Given the description of an element on the screen output the (x, y) to click on. 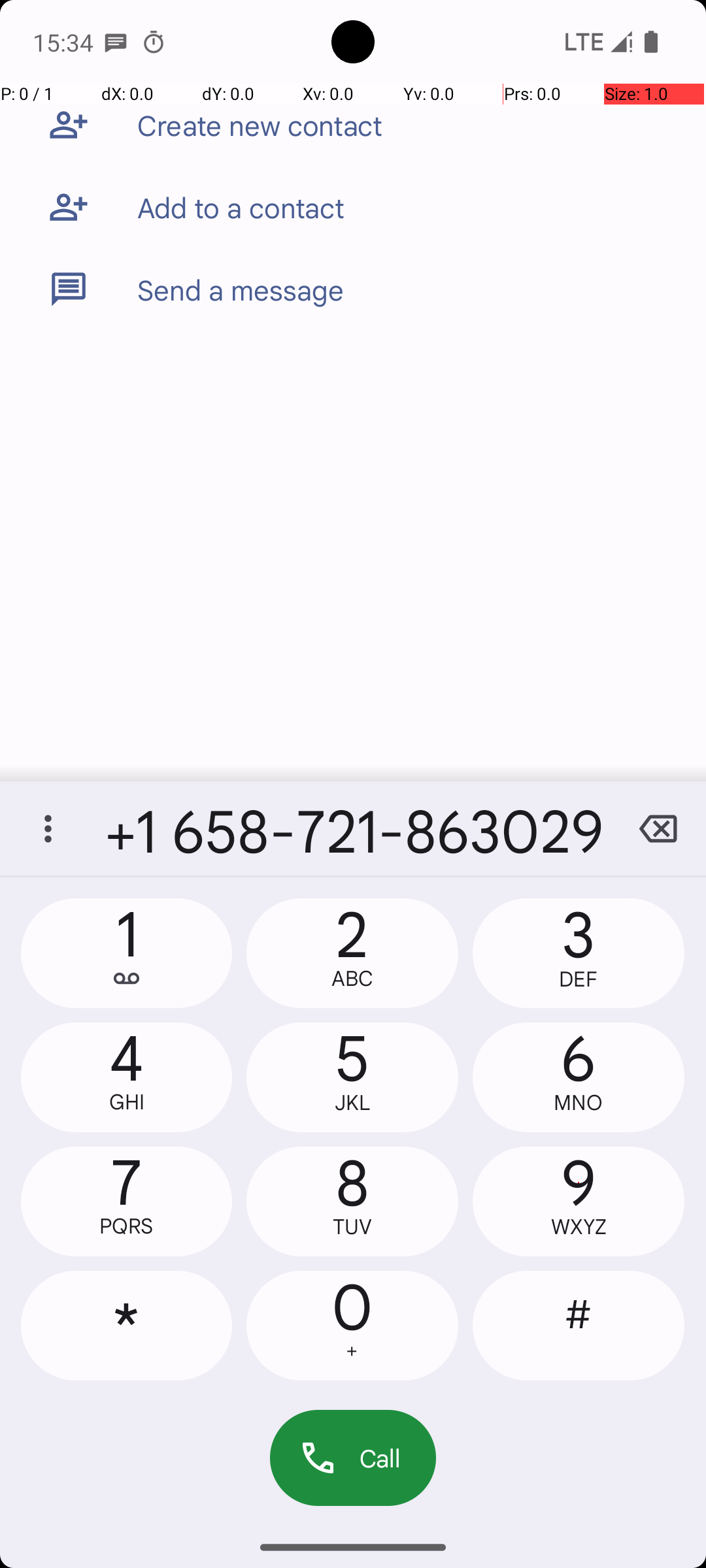
+1 658-721-863029 Element type: android.widget.EditText (352, 828)
